Given the description of an element on the screen output the (x, y) to click on. 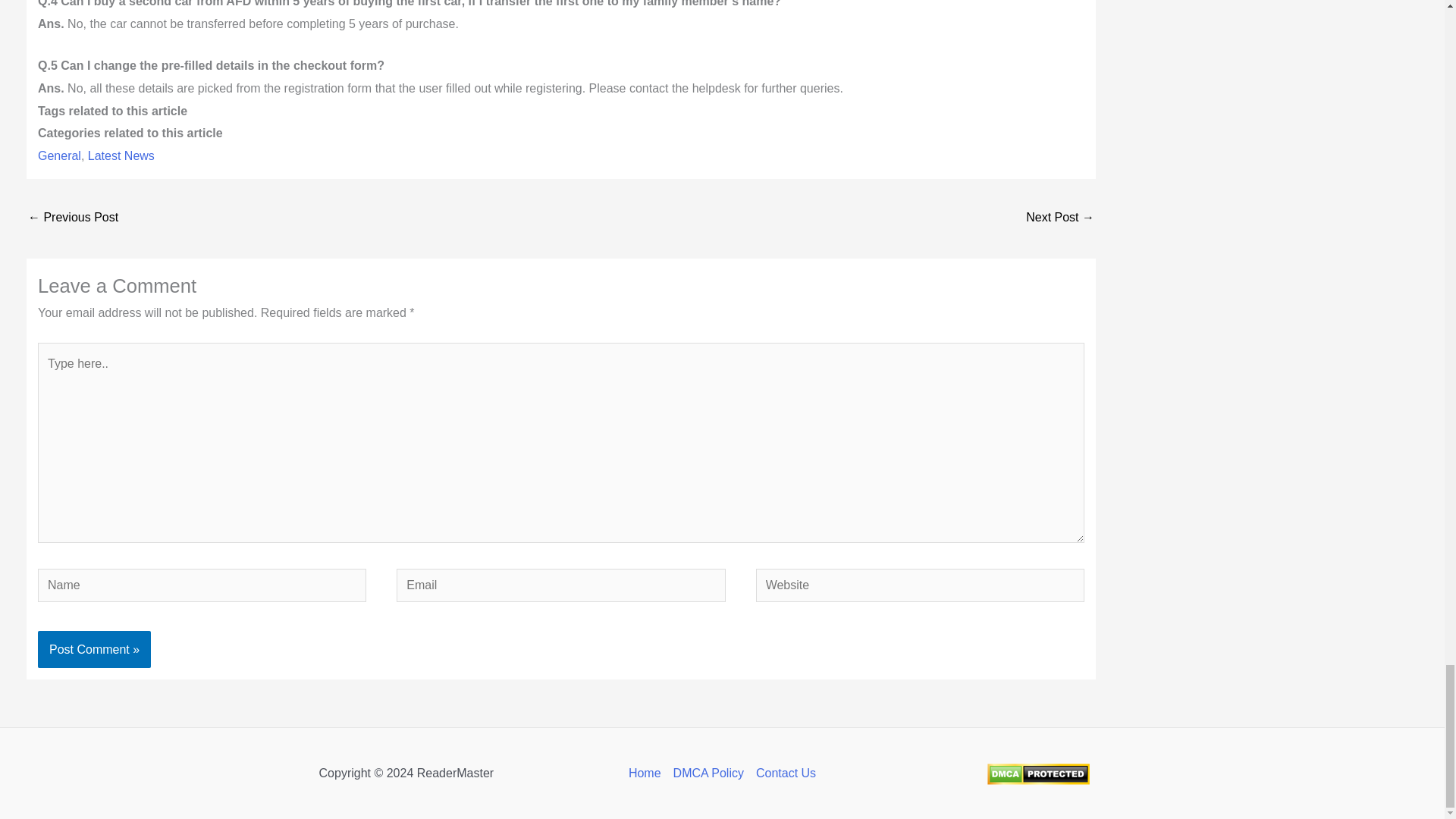
DMCA.com Protection Status (1038, 772)
General (59, 155)
Latest News (120, 155)
